Given the description of an element on the screen output the (x, y) to click on. 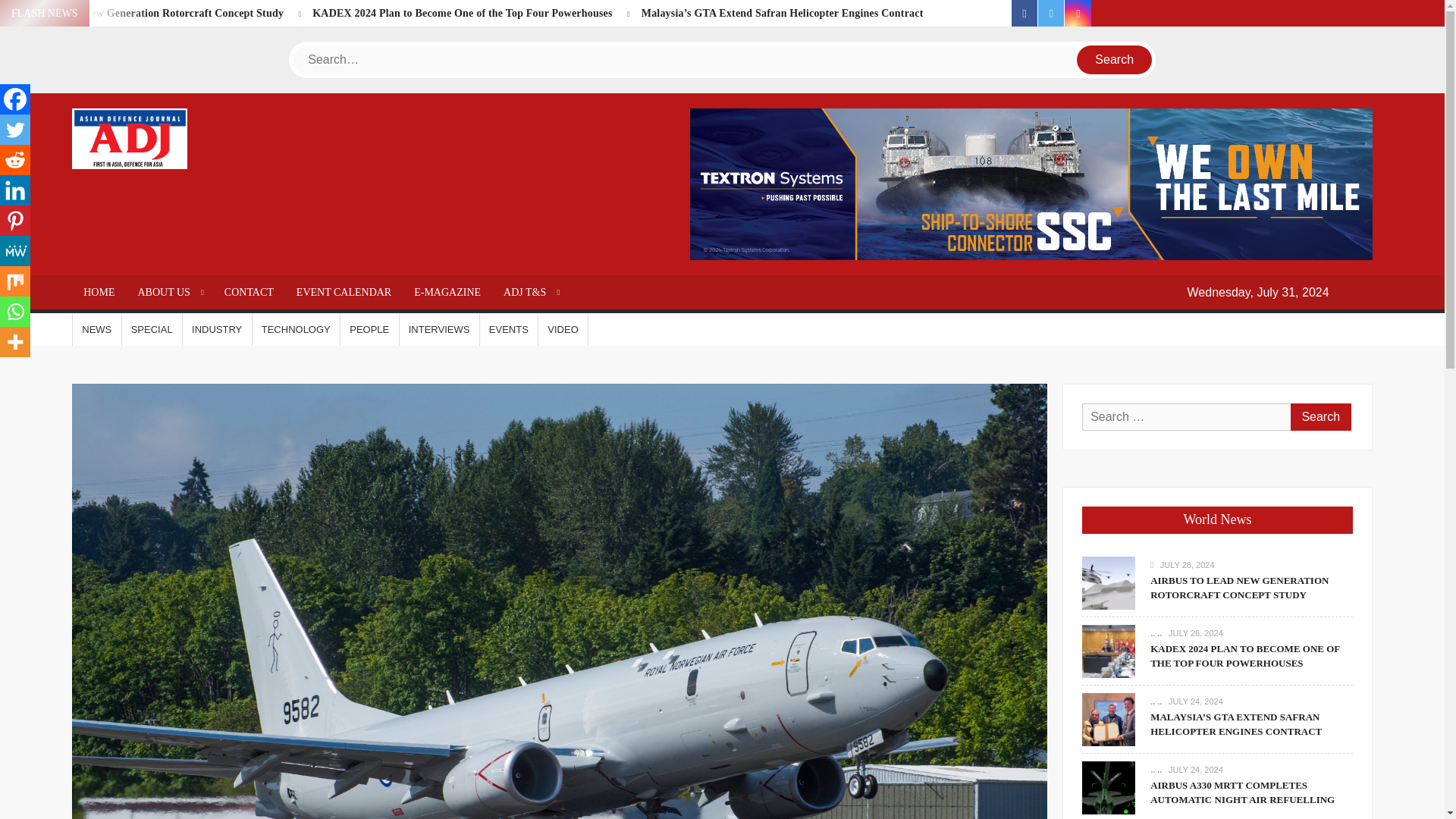
Search (1115, 59)
twitter (1051, 13)
Airbus to lead New Generation Rotorcraft Concept Study (148, 12)
instagram (1077, 13)
ABOUT US (168, 292)
KADEX 2024 Plan to Become One of the Top Four Powerhouses (462, 12)
Search (1115, 59)
KADEX 2024 Plan to Become One of the Top Four Powerhouses (462, 12)
ASIAN DEFENCE JOURNAL (272, 189)
HOME (98, 292)
Search (1320, 416)
Search (1320, 416)
